Given the description of an element on the screen output the (x, y) to click on. 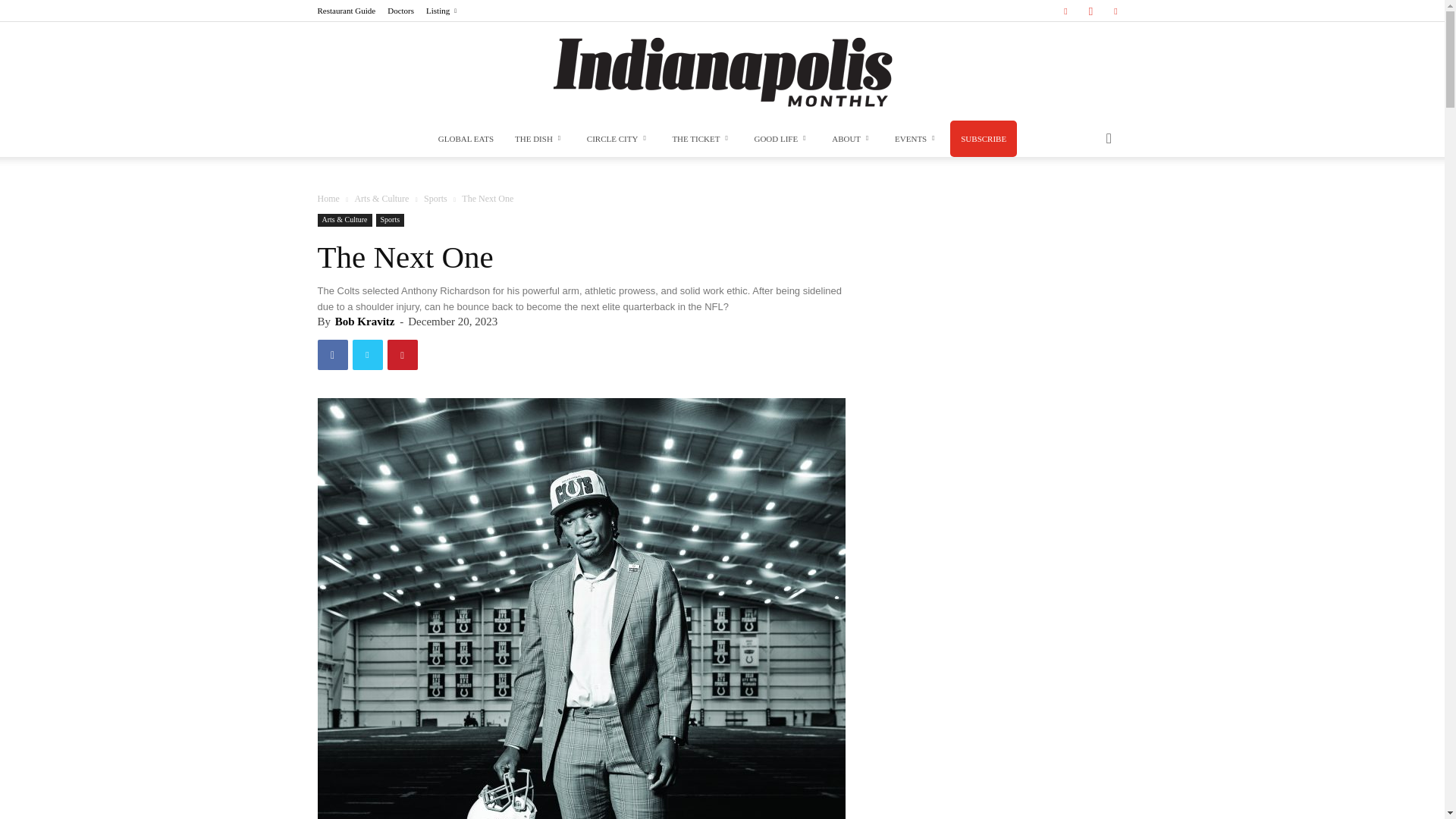
Twitter (1114, 10)
Instagram (1090, 10)
Posts by Bob Kravitz (364, 321)
Facebook (1065, 10)
View all posts in Sports (434, 198)
